Given the description of an element on the screen output the (x, y) to click on. 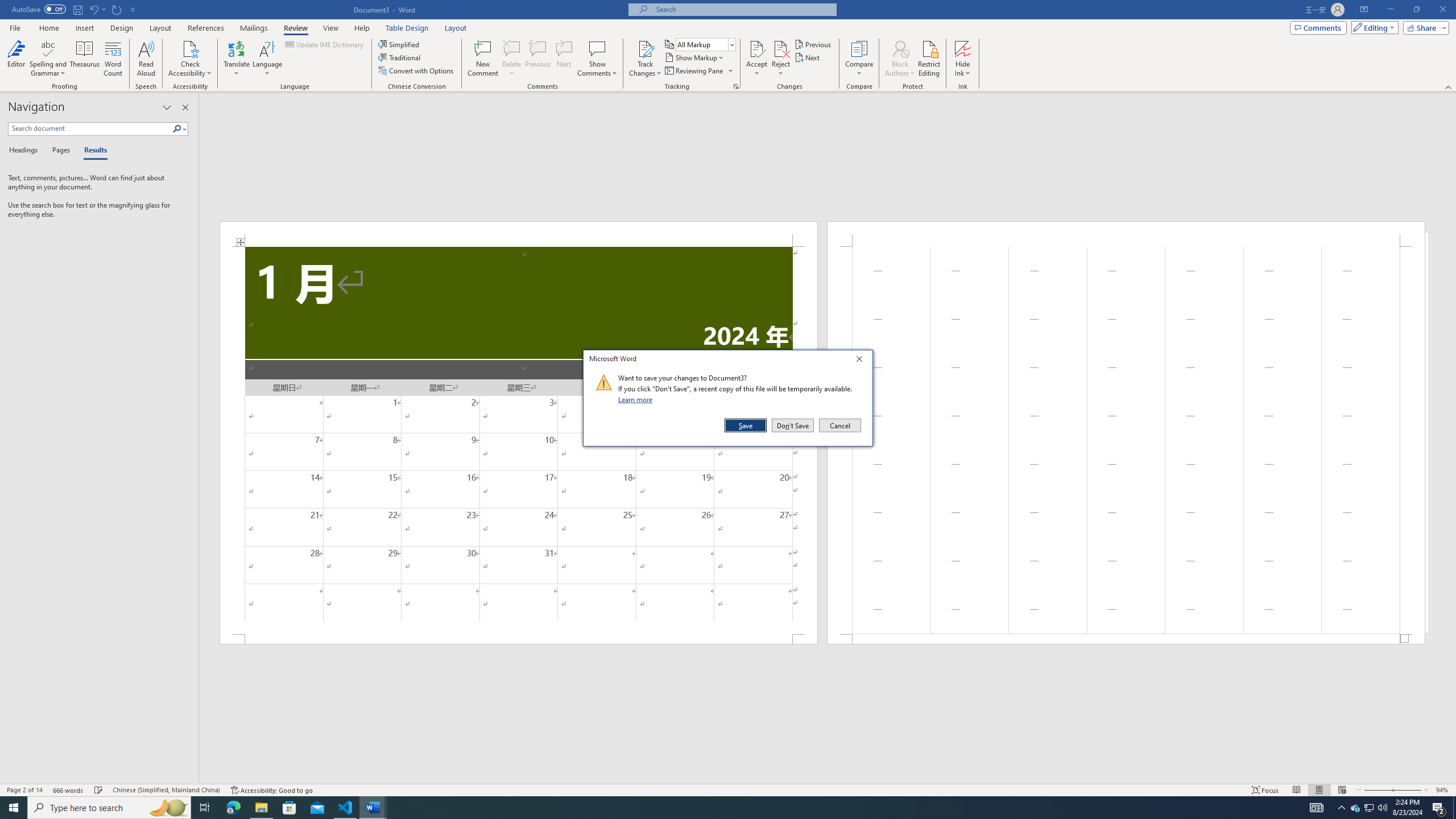
Spelling and Grammar Check Checking (98, 790)
Spelling and Grammar (48, 48)
Previous (813, 44)
File Explorer - 1 running window (261, 807)
Word Count (113, 58)
Convert with Options... (417, 69)
Show Markup (695, 56)
